Given the description of an element on the screen output the (x, y) to click on. 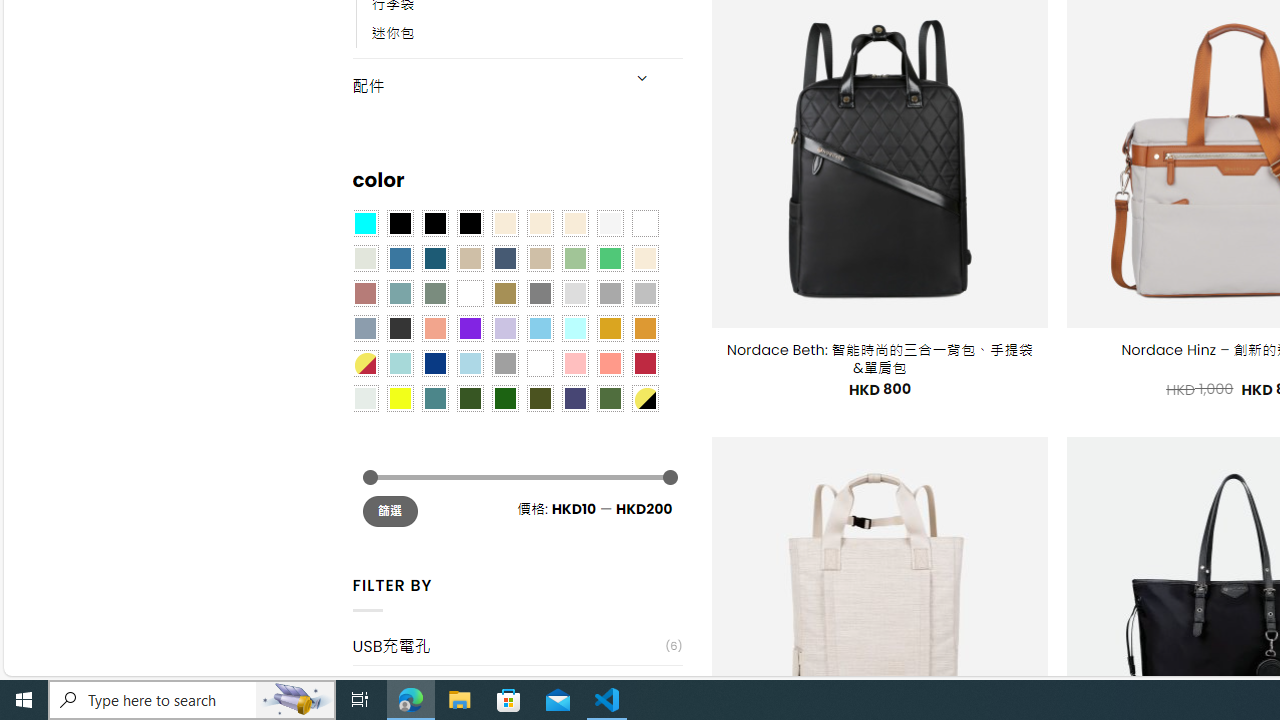
Dull Nickle (364, 398)
